Given the description of an element on the screen output the (x, y) to click on. 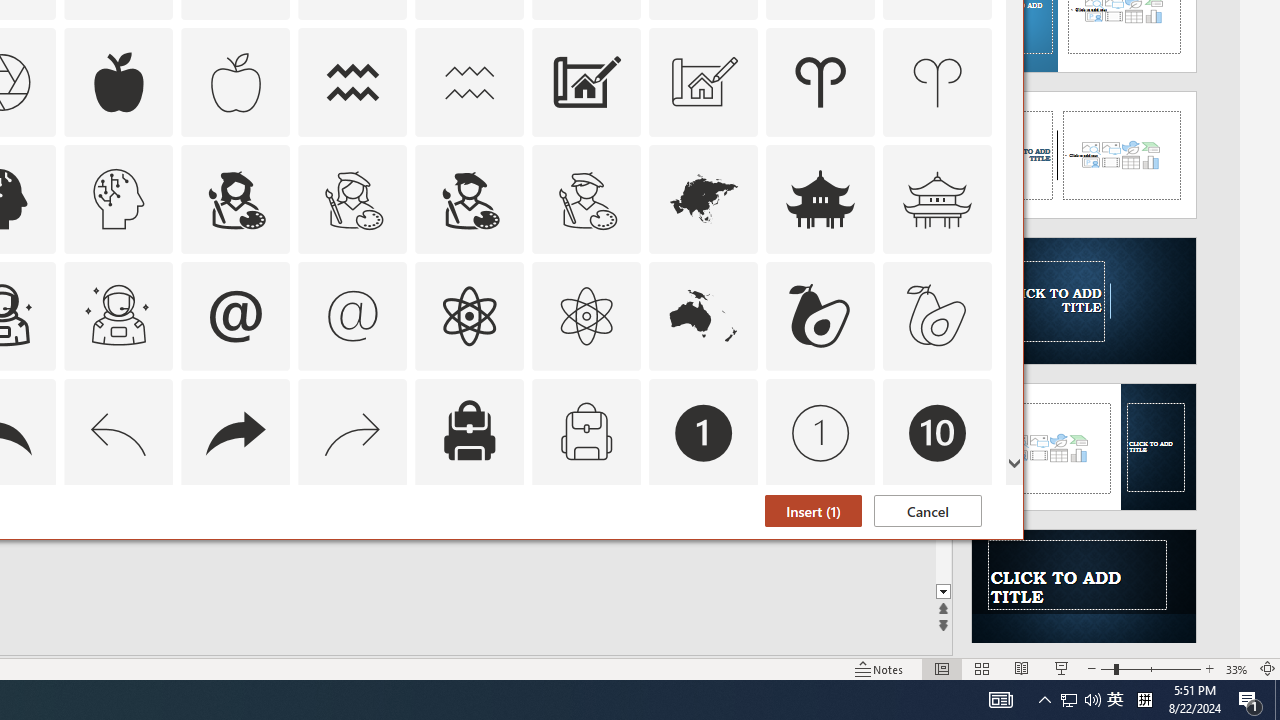
AutomationID: Icons_Badge8 (586, 550)
AutomationID: Icons_Back_RTL_M (353, 432)
AutomationID: Icons_Back_LTR_M (118, 432)
Insert (1) (813, 511)
AutomationID: Icons_Aries_M (938, 82)
AutomationID: Icons_Atom_M (586, 316)
AutomationID: Icons_ArtistMale_M (586, 198)
AutomationID: Icons_AsianTemple_M (938, 198)
